Given the description of an element on the screen output the (x, y) to click on. 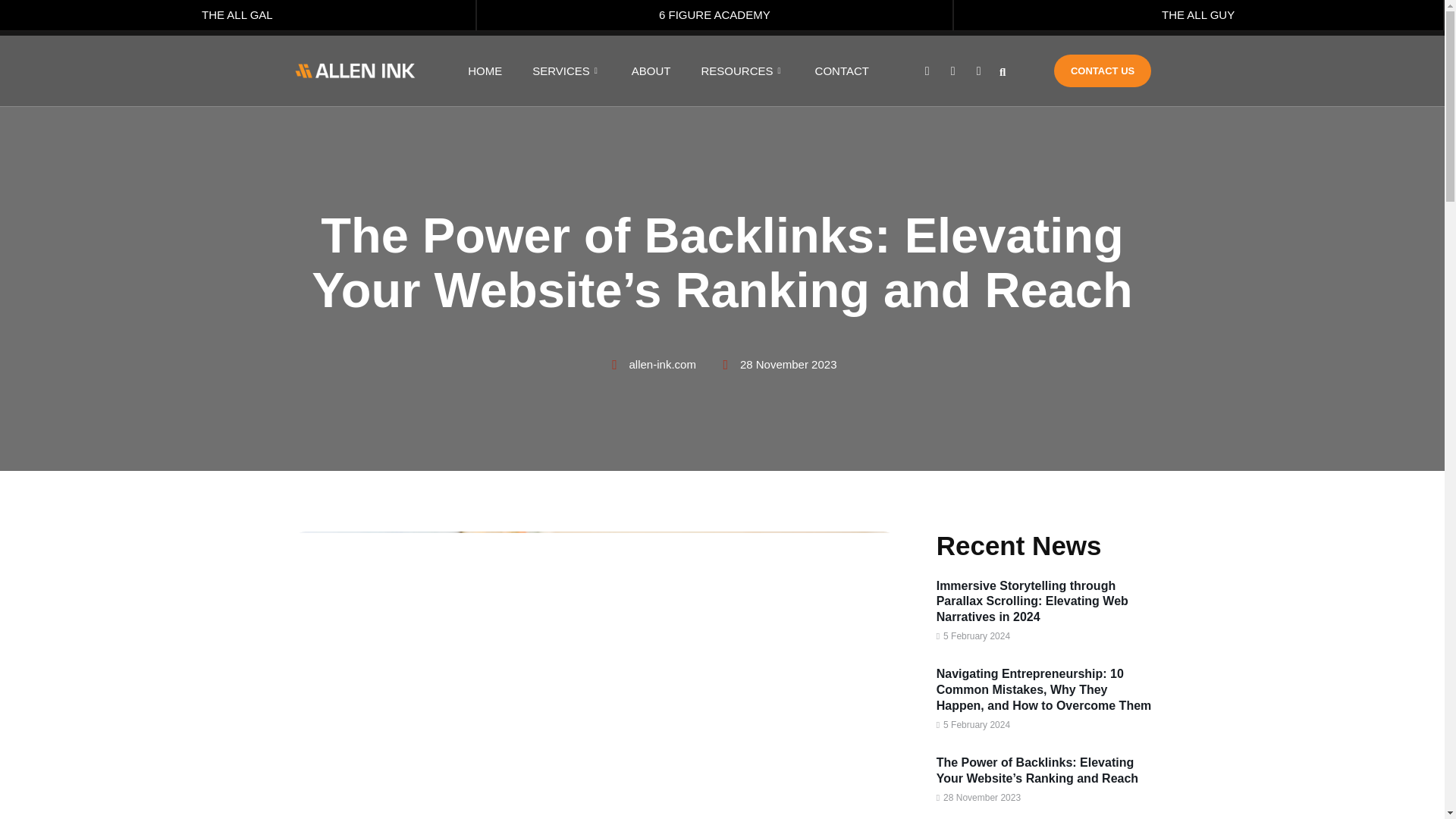
RESOURCES (758, 70)
HOME (499, 70)
ABOUT (666, 70)
CONTACT US (1102, 70)
THE ALL GAL (238, 18)
SERVICES (581, 70)
CONTACT (857, 70)
6 FIGURE ACADEMY (715, 18)
